Given the description of an element on the screen output the (x, y) to click on. 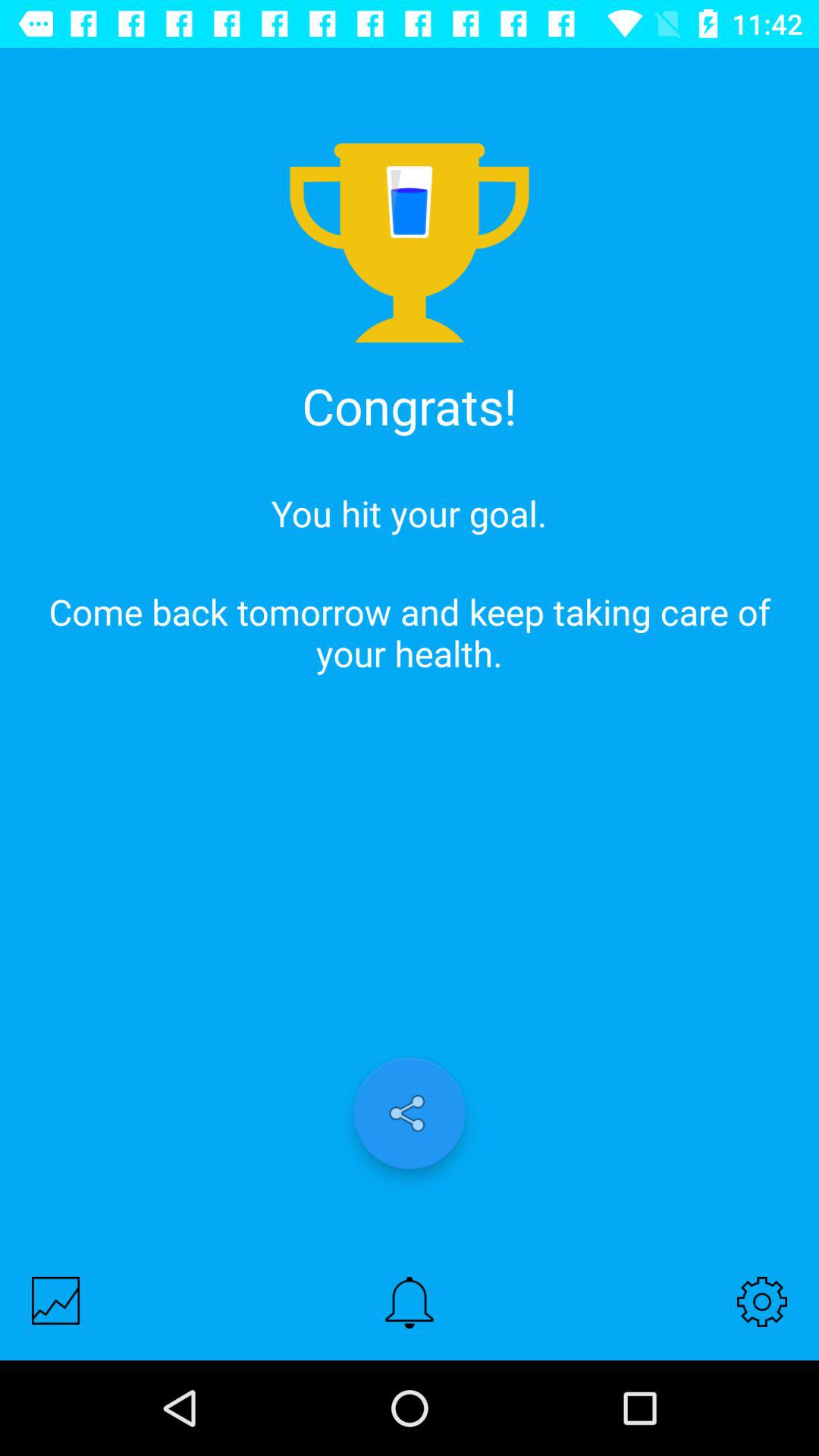
select icon below the come back tomorrow item (409, 1113)
